Given the description of an element on the screen output the (x, y) to click on. 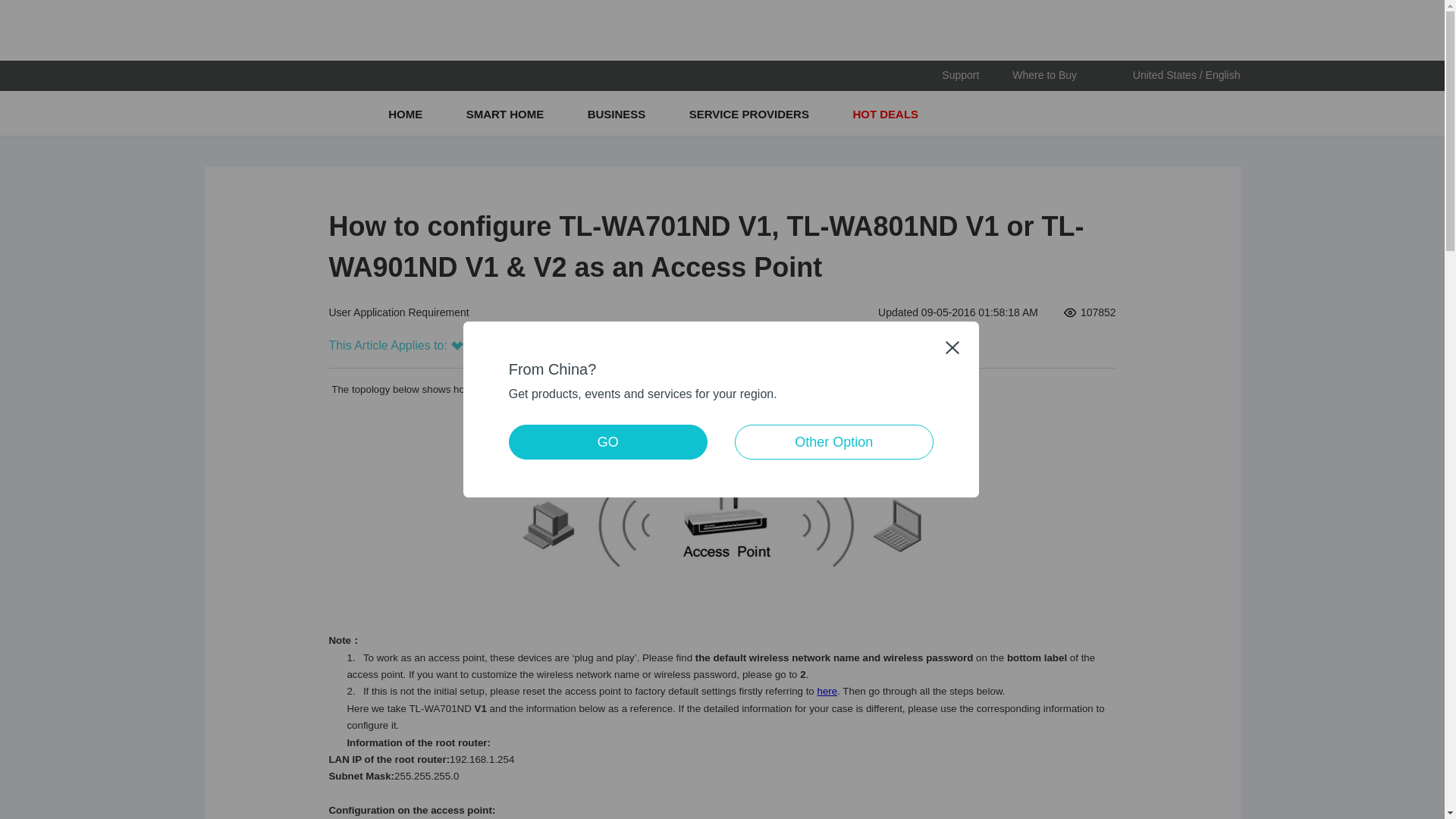
HOME (406, 113)
Where to Buy (1044, 75)
kasa (234, 75)
Support (960, 75)
TP-Link, Reliably Smart (244, 113)
tapo (319, 75)
omada (404, 75)
VIGI (489, 75)
Search (1230, 113)
